Given the description of an element on the screen output the (x, y) to click on. 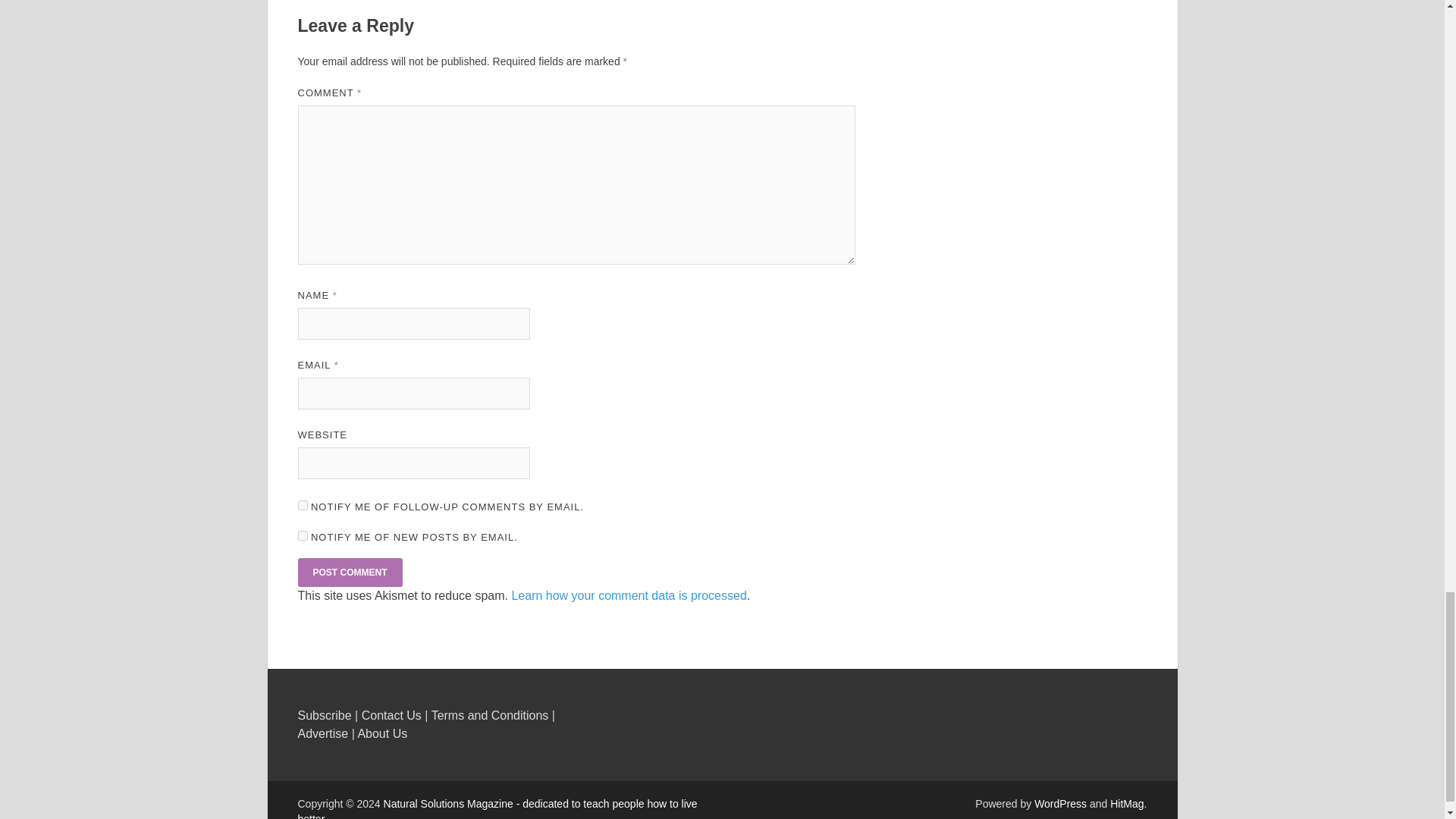
Post Comment (349, 572)
subscribe (302, 535)
subscribe (302, 505)
WordPress (1059, 803)
